Given the description of an element on the screen output the (x, y) to click on. 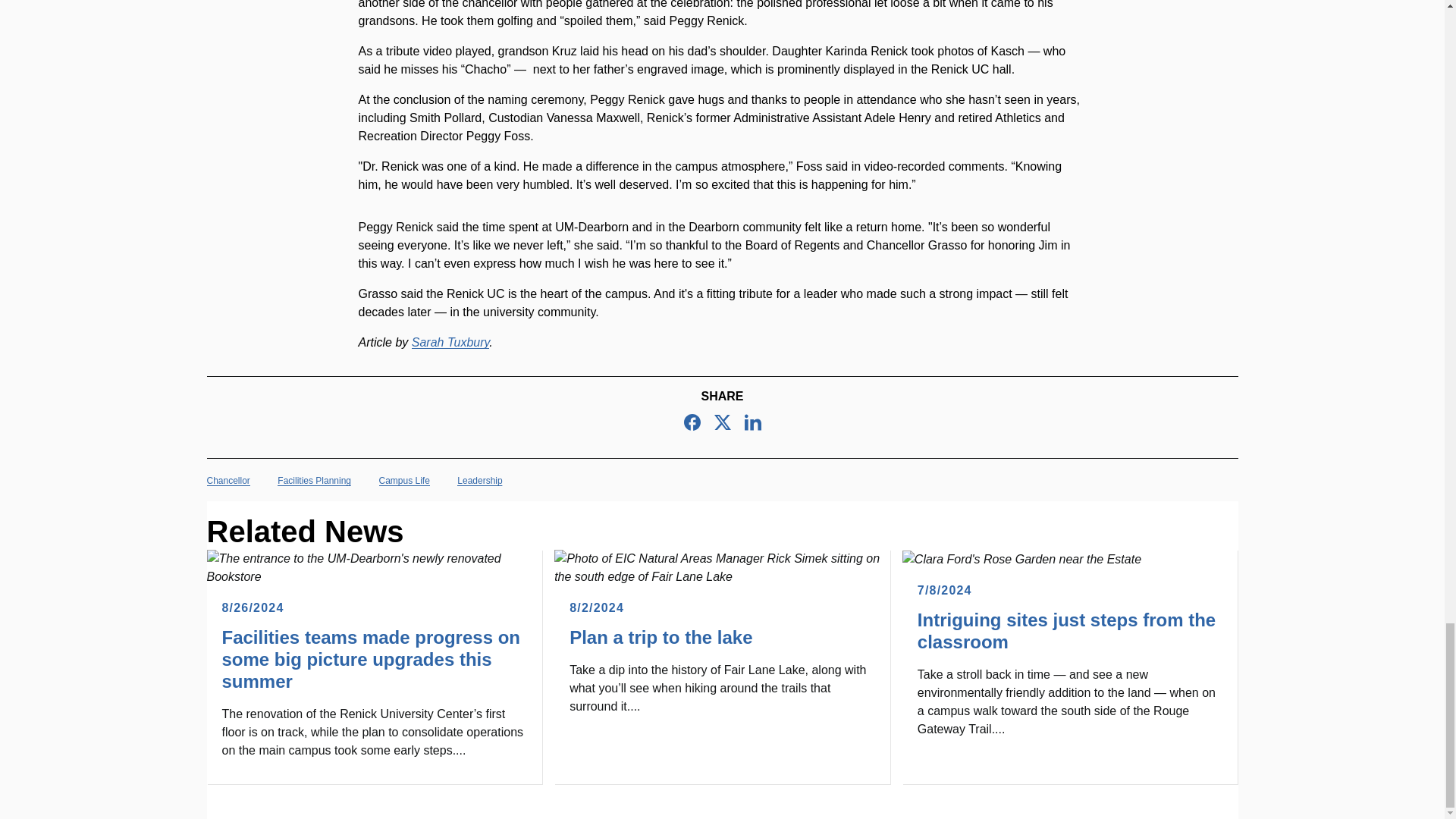
facebook (692, 422)
twitter (722, 422)
Leadership (479, 480)
Sarah Tuxbury (450, 341)
linkedin (752, 422)
Facilities Planning (314, 480)
Campus Life (403, 480)
Chancellor (227, 480)
